Given the description of an element on the screen output the (x, y) to click on. 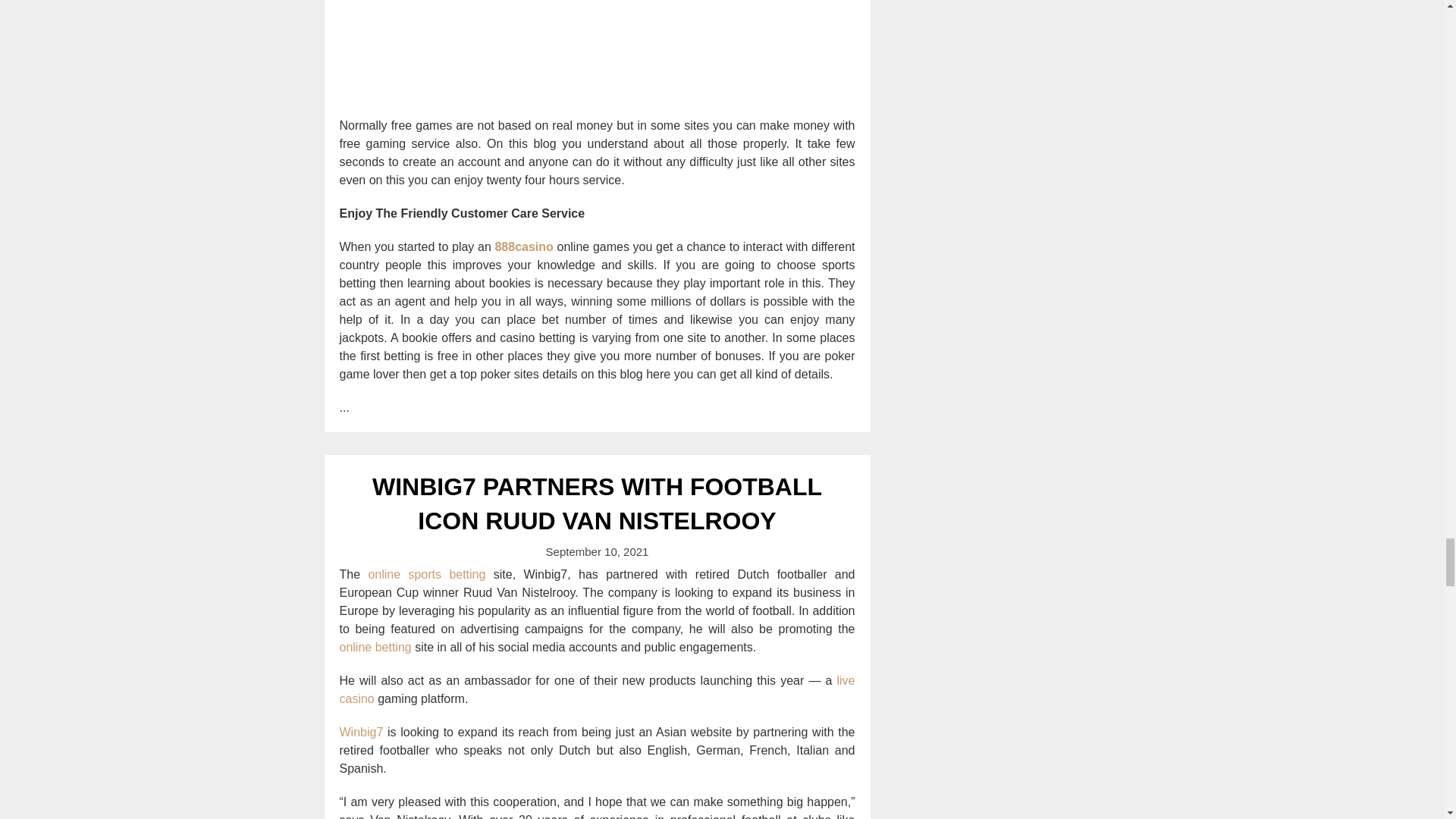
online sports betting (426, 574)
online betting (375, 646)
WINBIG7 PARTNERS WITH FOOTBALL ICON RUUD VAN NISTELROOY (597, 503)
Winbig7 (361, 731)
888casino (524, 246)
live casino (597, 689)
WINBIG7 PARTNERS WITH FOOTBALL ICON RUUD VAN NISTELROOY (597, 503)
